Given the description of an element on the screen output the (x, y) to click on. 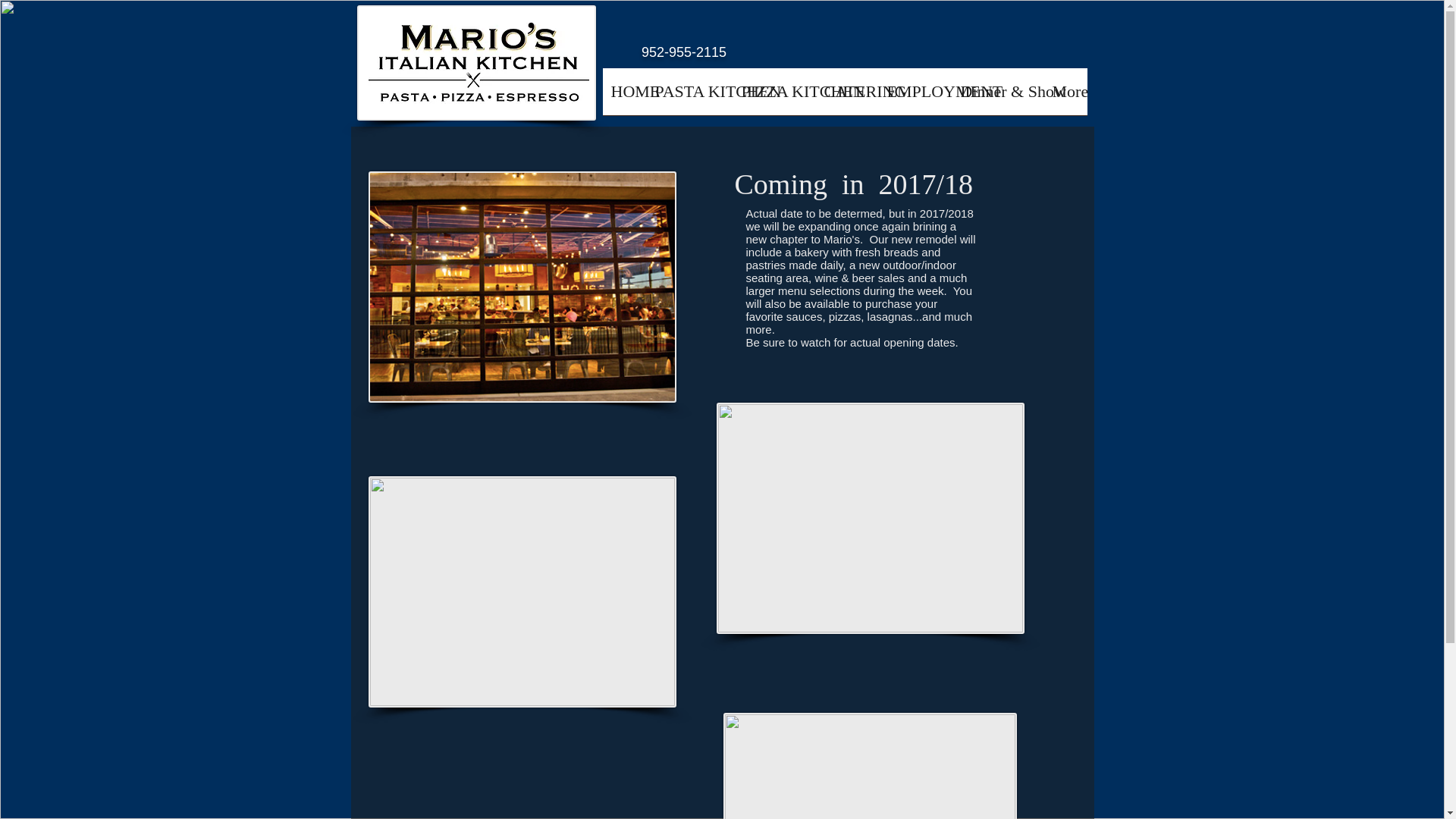
EMPLOYMENT (914, 96)
rosetta-italian-bakery.jpg (869, 765)
HOME (624, 96)
PASTA KITCHEN (689, 96)
CATERING (847, 96)
PIZZA KITCHEN (773, 96)
